Given the description of an element on the screen output the (x, y) to click on. 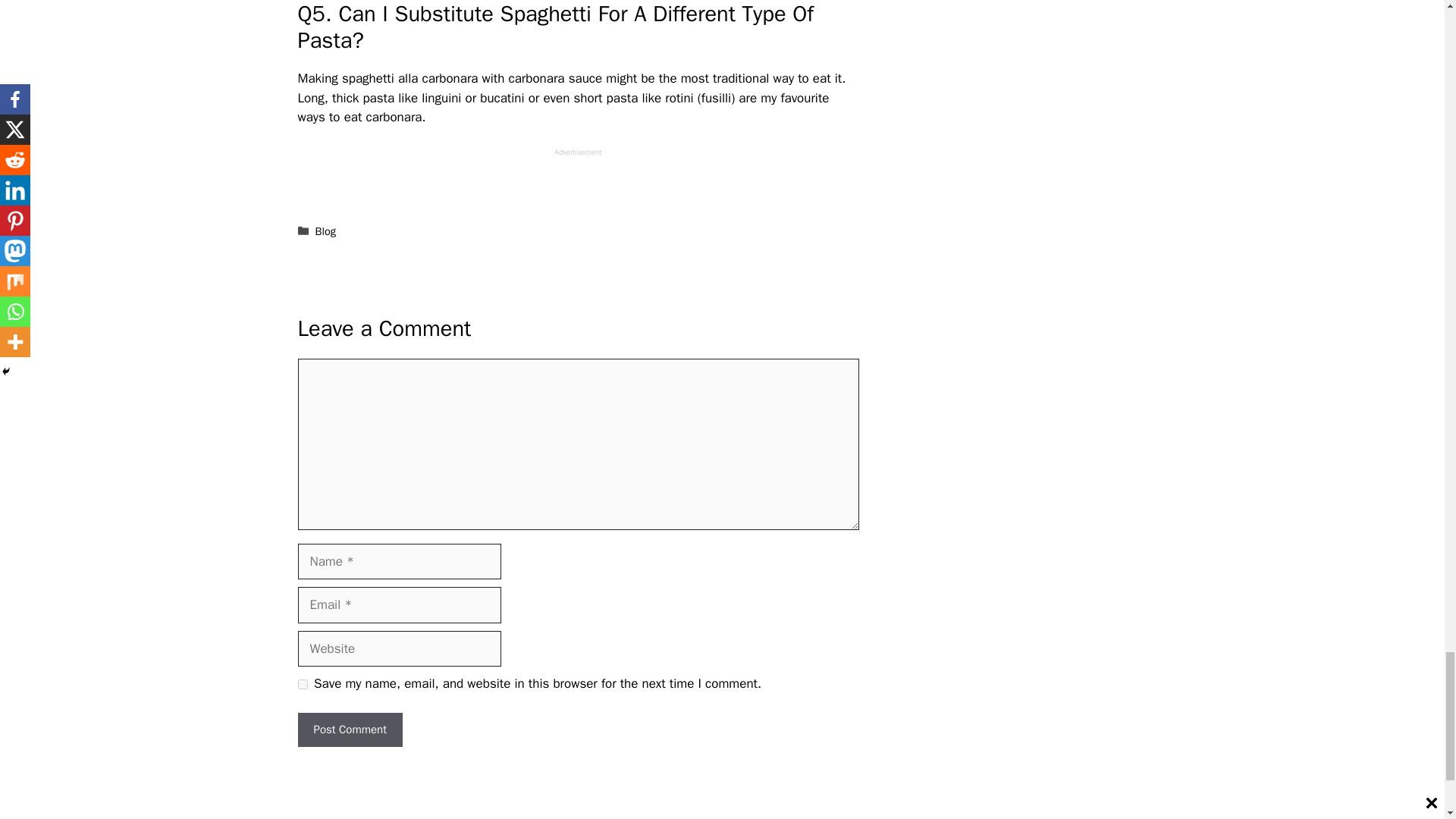
Post Comment (349, 729)
Blog (325, 231)
yes (302, 684)
Post Comment (349, 729)
